Given the description of an element on the screen output the (x, y) to click on. 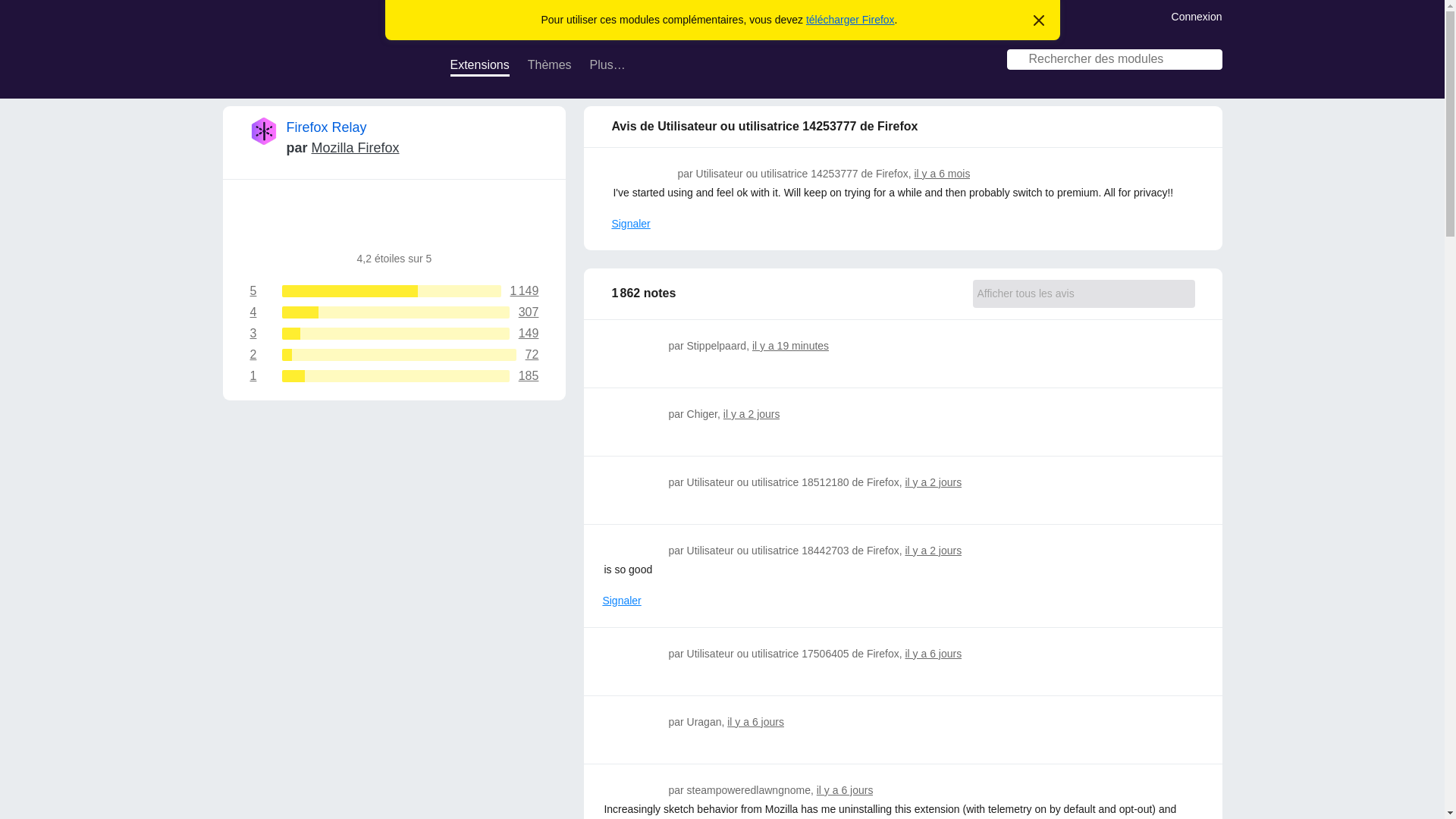
il y a 6 jours (755, 721)
Modules pour le navigateur Firefox (394, 376)
il y a 2 jours (327, 59)
Extensions (751, 413)
Connexion (479, 66)
il y a 6 jours (1197, 14)
Signaler (394, 312)
il y a 6 mois (932, 653)
il y a 2 jours (630, 223)
Rechercher (394, 354)
il y a 6 jours (941, 173)
